Given the description of an element on the screen output the (x, y) to click on. 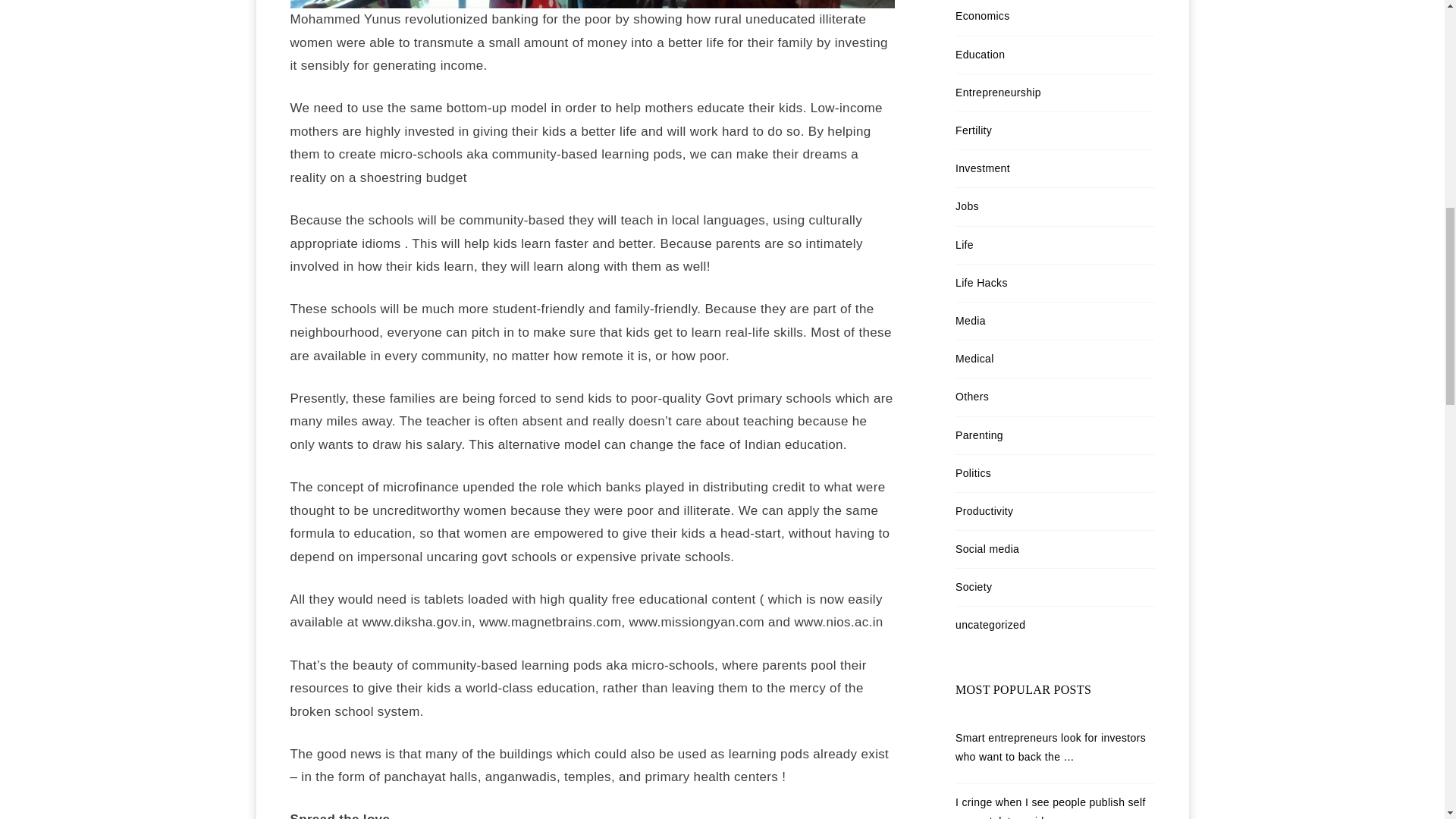
Entrepreneurship (998, 92)
Education (979, 54)
Economics (982, 15)
Fertility (973, 130)
Investment (982, 168)
